Given the description of an element on the screen output the (x, y) to click on. 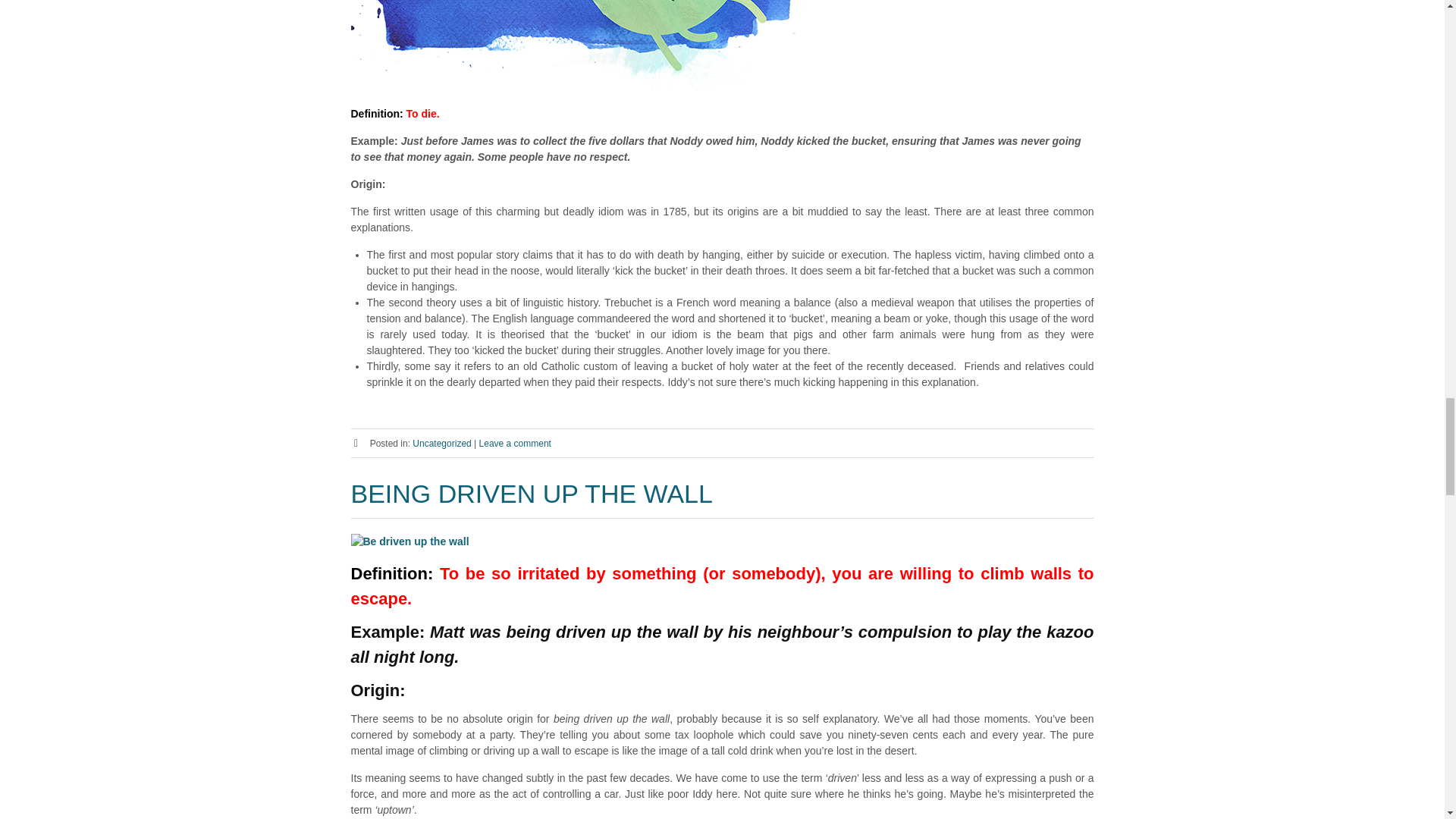
Uncategorized (441, 443)
BEING DRIVEN UP THE WALL (530, 493)
Leave a comment (515, 443)
